Given the description of an element on the screen output the (x, y) to click on. 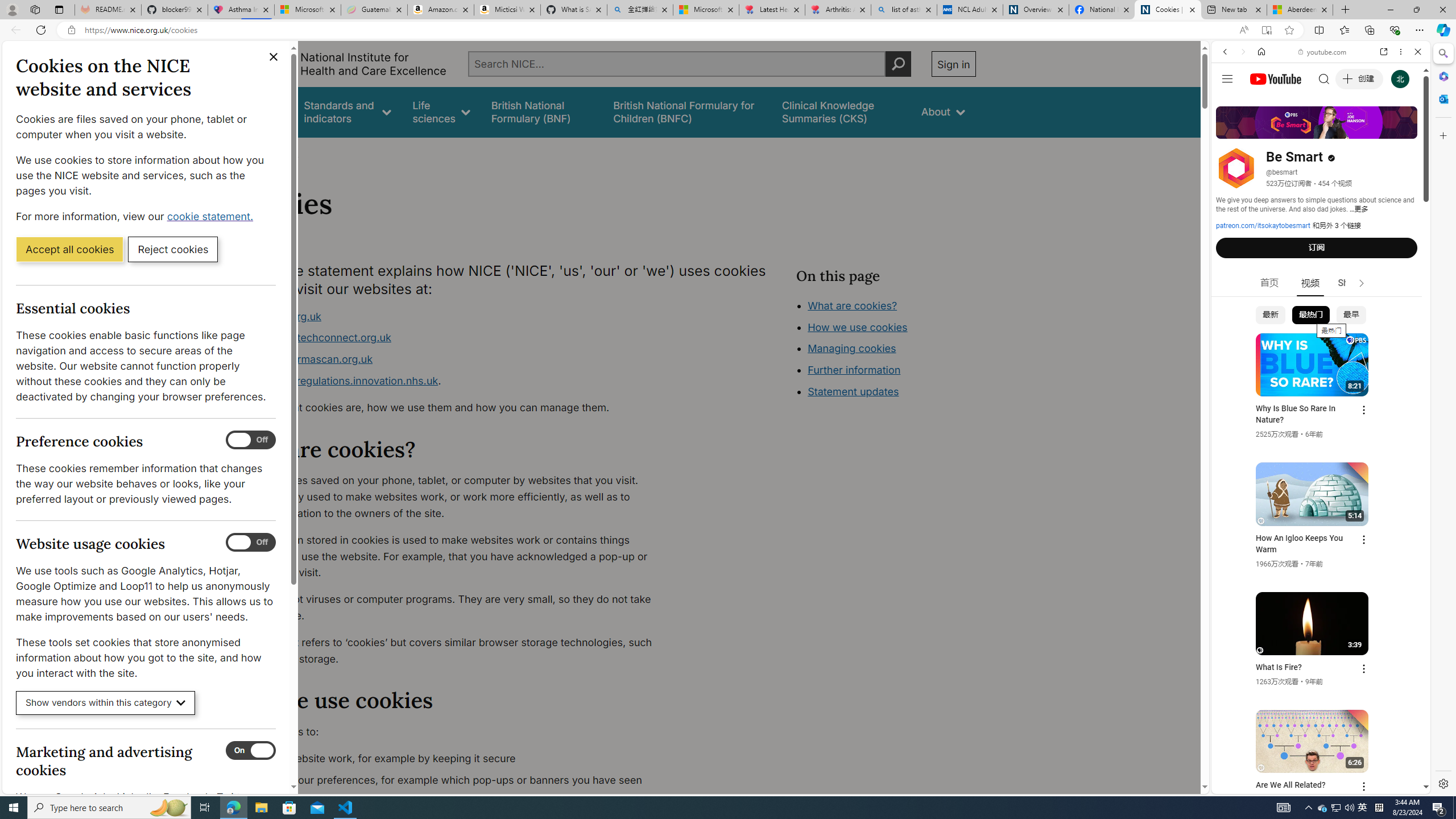
www.healthtechconnect.org.uk (452, 338)
Accept all cookies (69, 248)
SEARCH TOOLS (1350, 130)
www.healthtechconnect.org.uk (314, 337)
Search videos from youtube.com (1299, 373)
Asthma Inhalers: Names and Types (240, 9)
How we use cookies (857, 327)
